Given the description of an element on the screen output the (x, y) to click on. 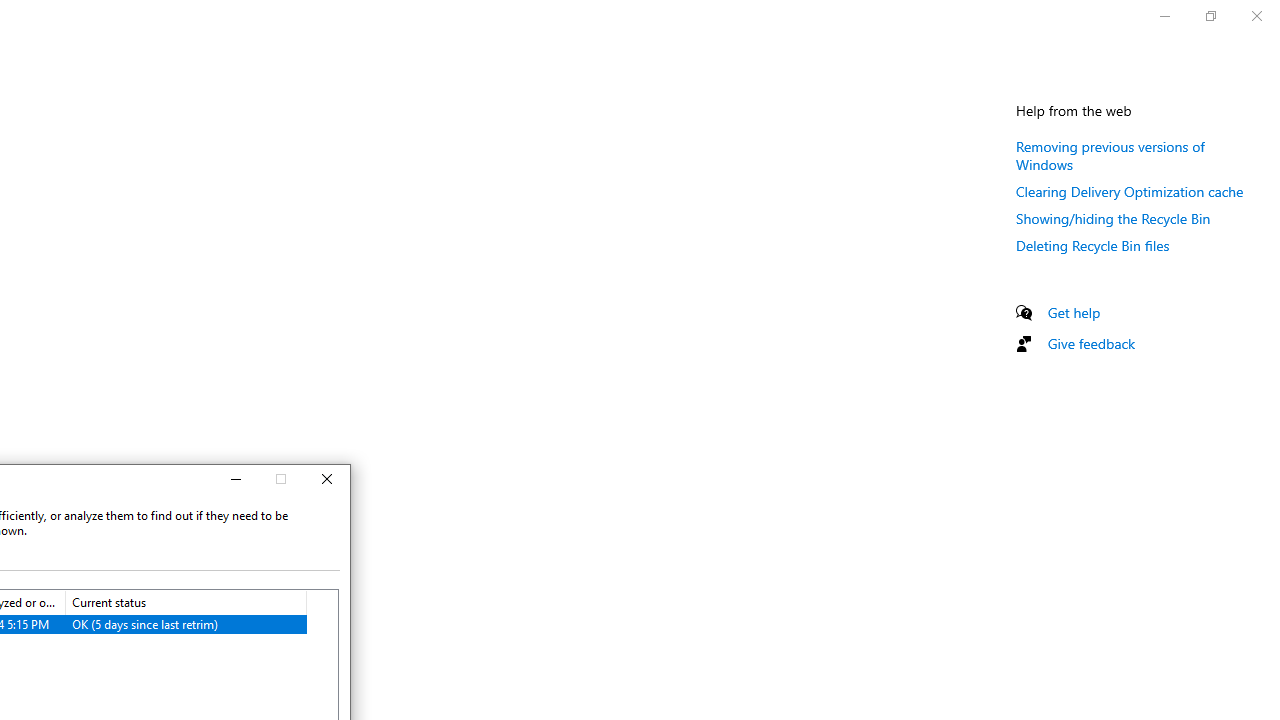
Minimize (234, 480)
Maximize (281, 480)
Close (327, 480)
